Given the description of an element on the screen output the (x, y) to click on. 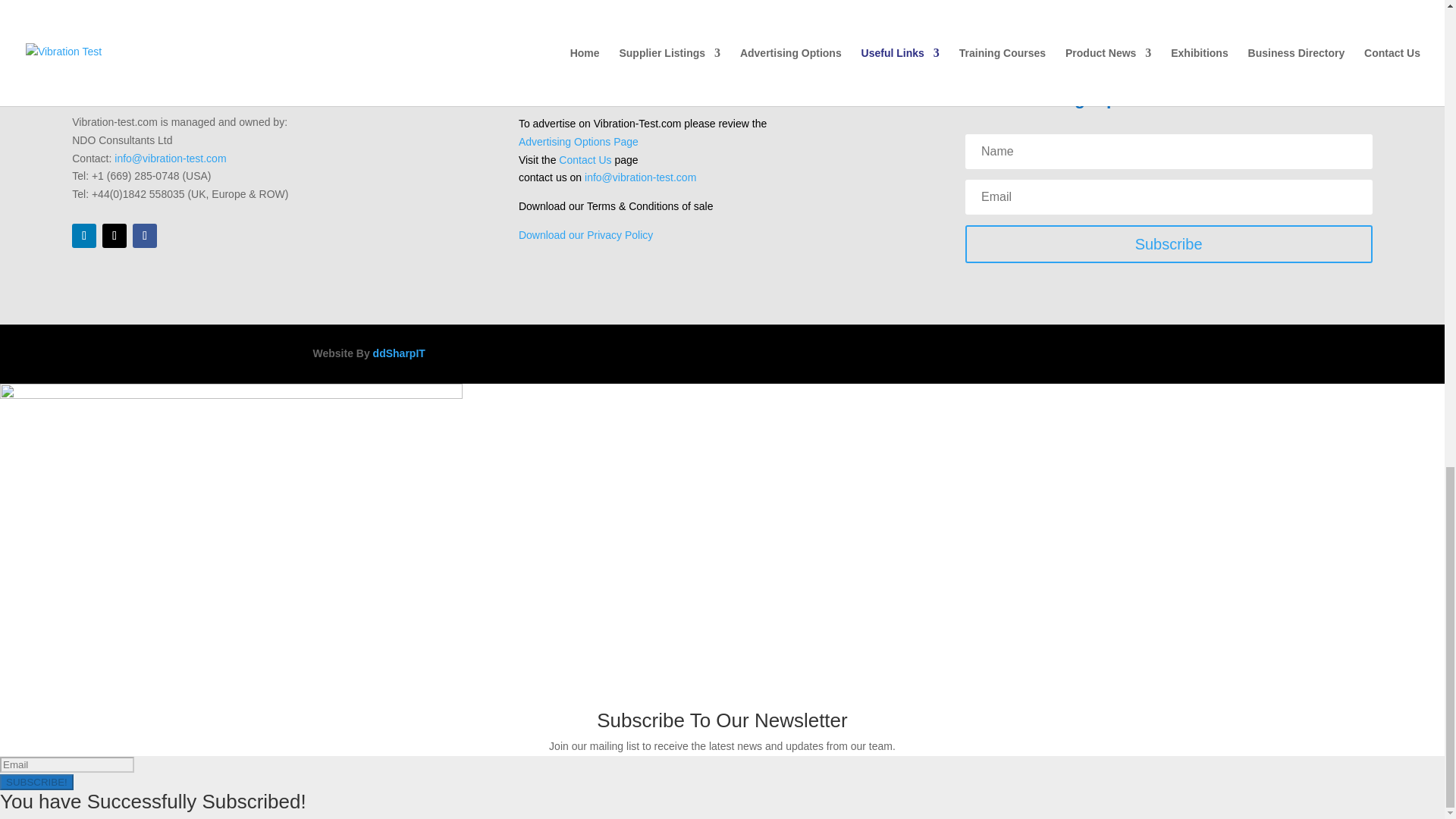
Follow on Facebook (144, 235)
Follow on X (113, 235)
Follow on LinkedIn (83, 235)
